Given the description of an element on the screen output the (x, y) to click on. 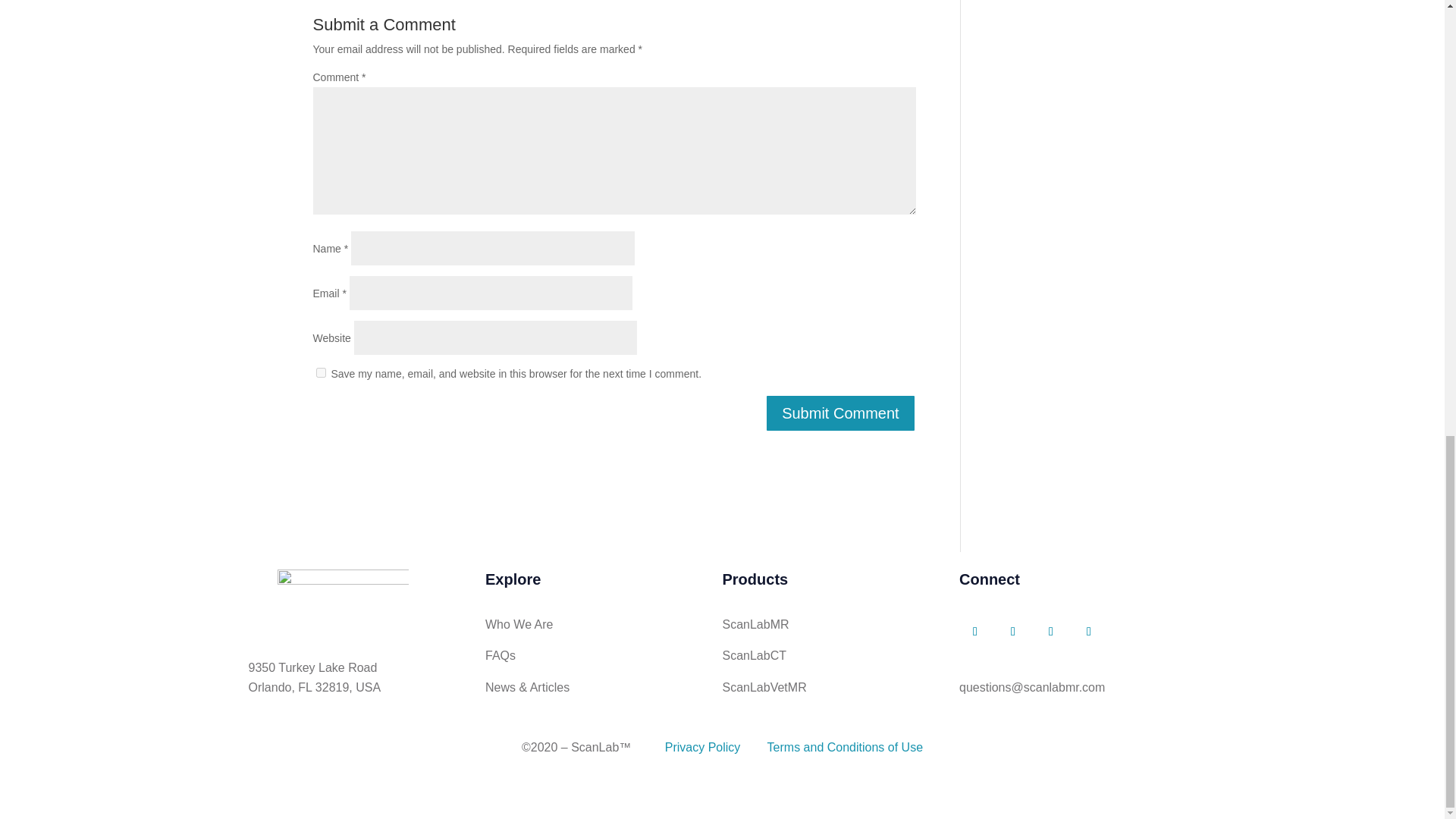
Follow on Instagram (1089, 631)
Follow on Youtube (1051, 631)
Who We Are (518, 624)
yes (319, 372)
FAQs (499, 655)
SL Horizontal (343, 597)
Submit Comment (840, 412)
Terms and Conditions of Use (845, 747)
Submit Comment (840, 412)
Follow on Facebook (975, 631)
